Given the description of an element on the screen output the (x, y) to click on. 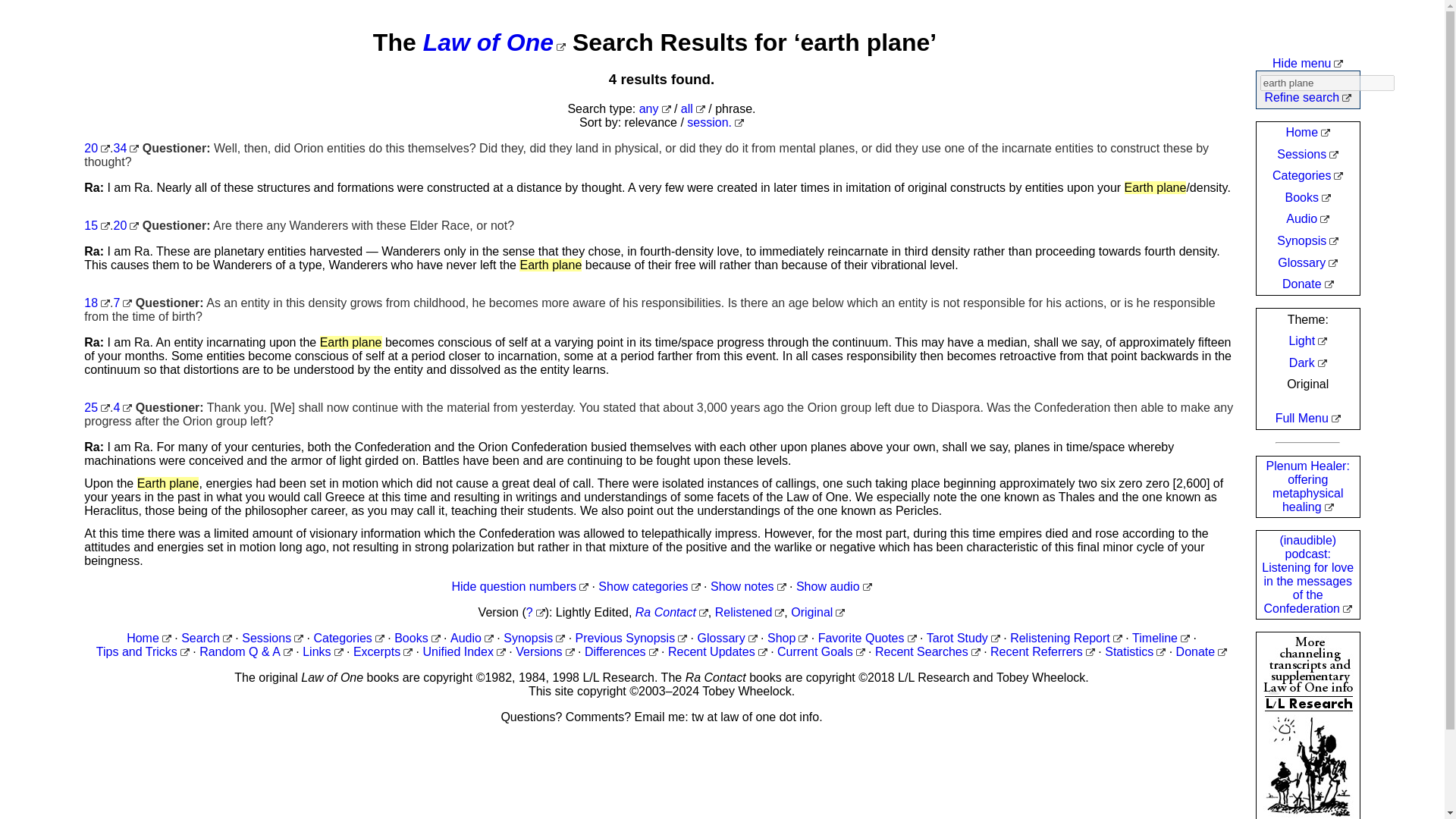
4 (122, 407)
20 (97, 147)
all (692, 108)
20 (126, 225)
Ra Contact (670, 612)
Original (817, 612)
18 (97, 302)
Home (148, 637)
any (655, 108)
7 (122, 302)
Law of One (494, 42)
34 (126, 147)
? (534, 612)
Hide question numbers (519, 585)
session. (715, 122)
